Given the description of an element on the screen output the (x, y) to click on. 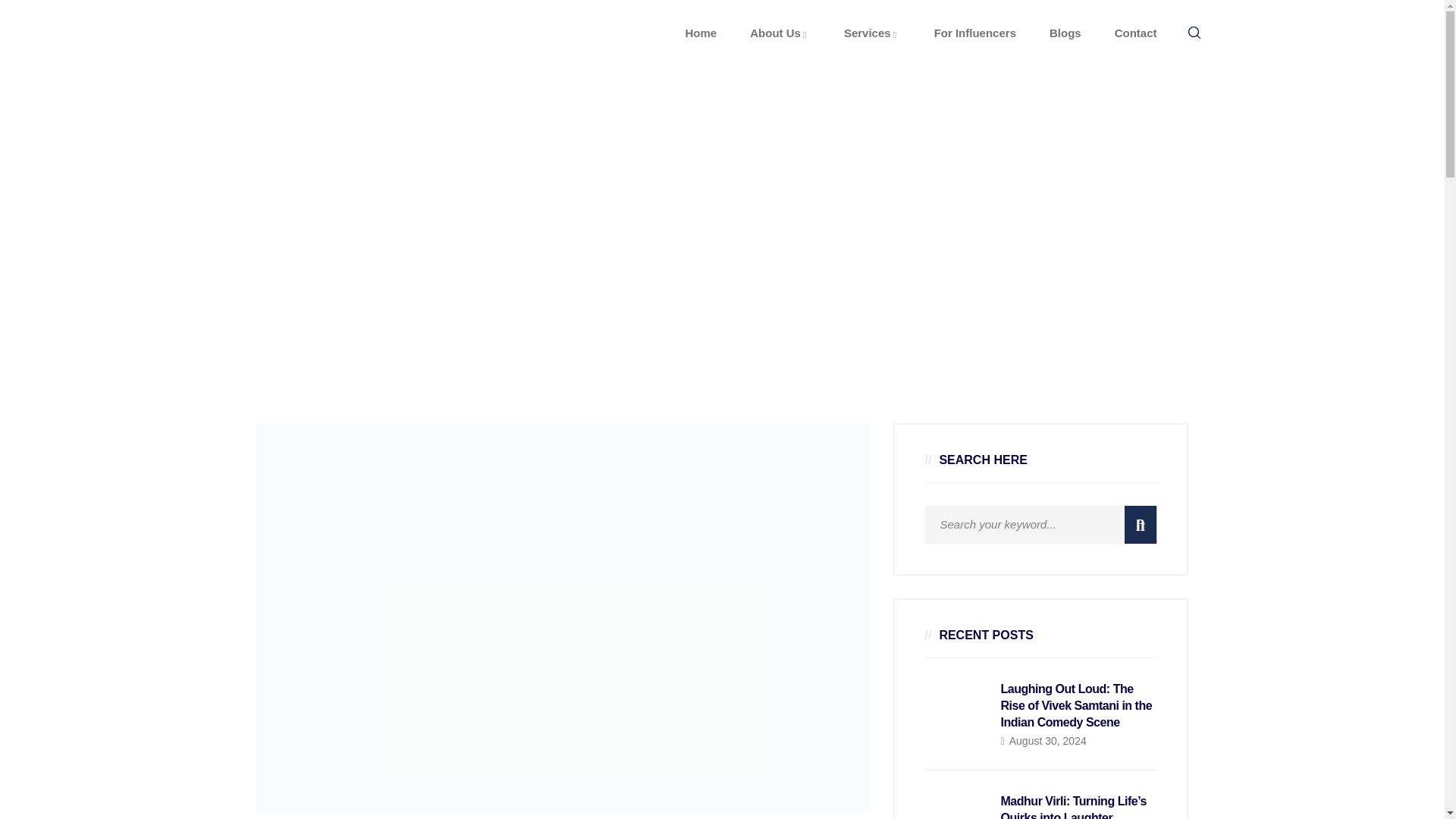
For Influencers (975, 33)
Services (872, 33)
About Us (780, 33)
